Given the description of an element on the screen output the (x, y) to click on. 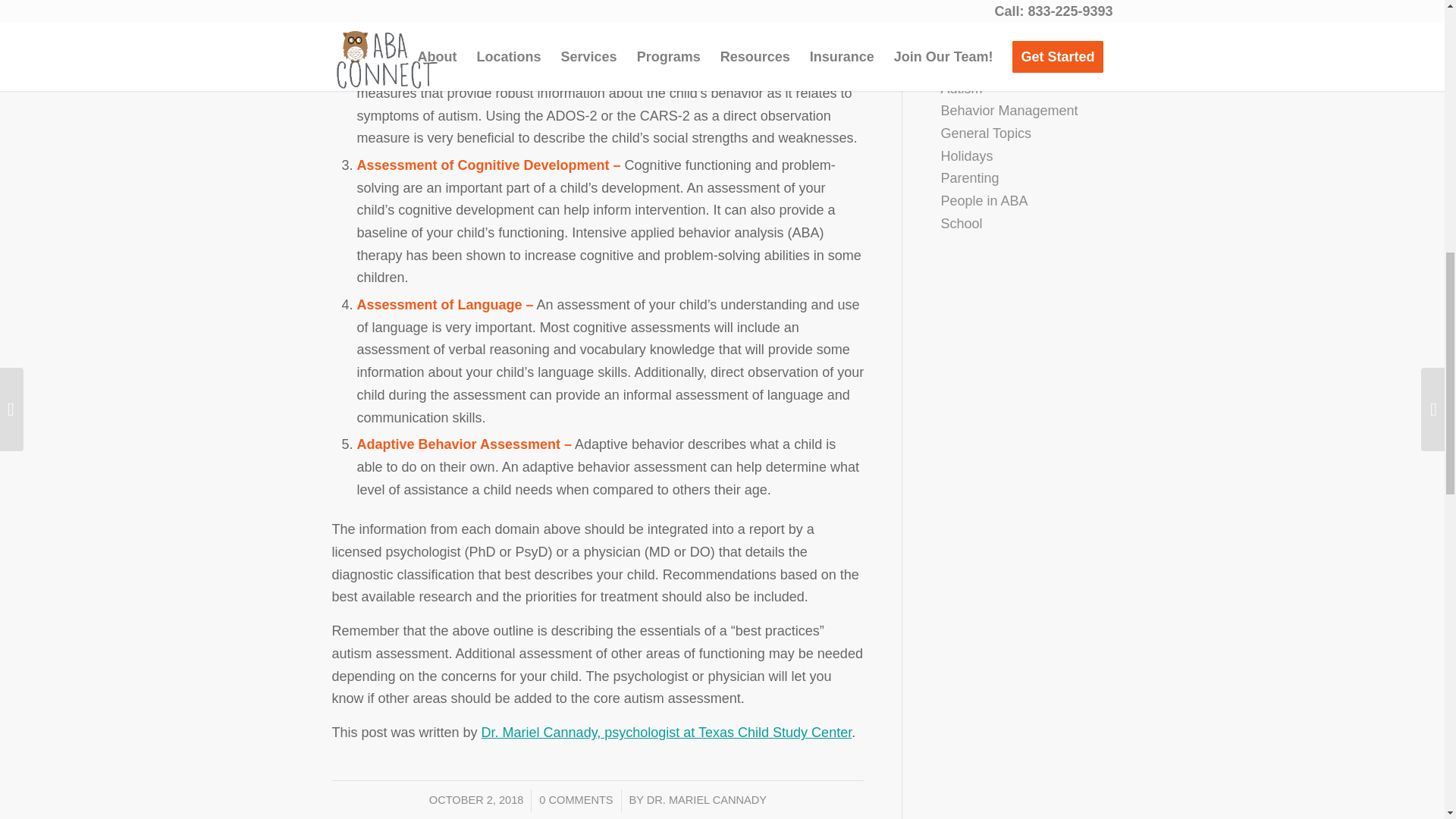
Posts by Dr. Mariel Cannady (706, 799)
